Given the description of an element on the screen output the (x, y) to click on. 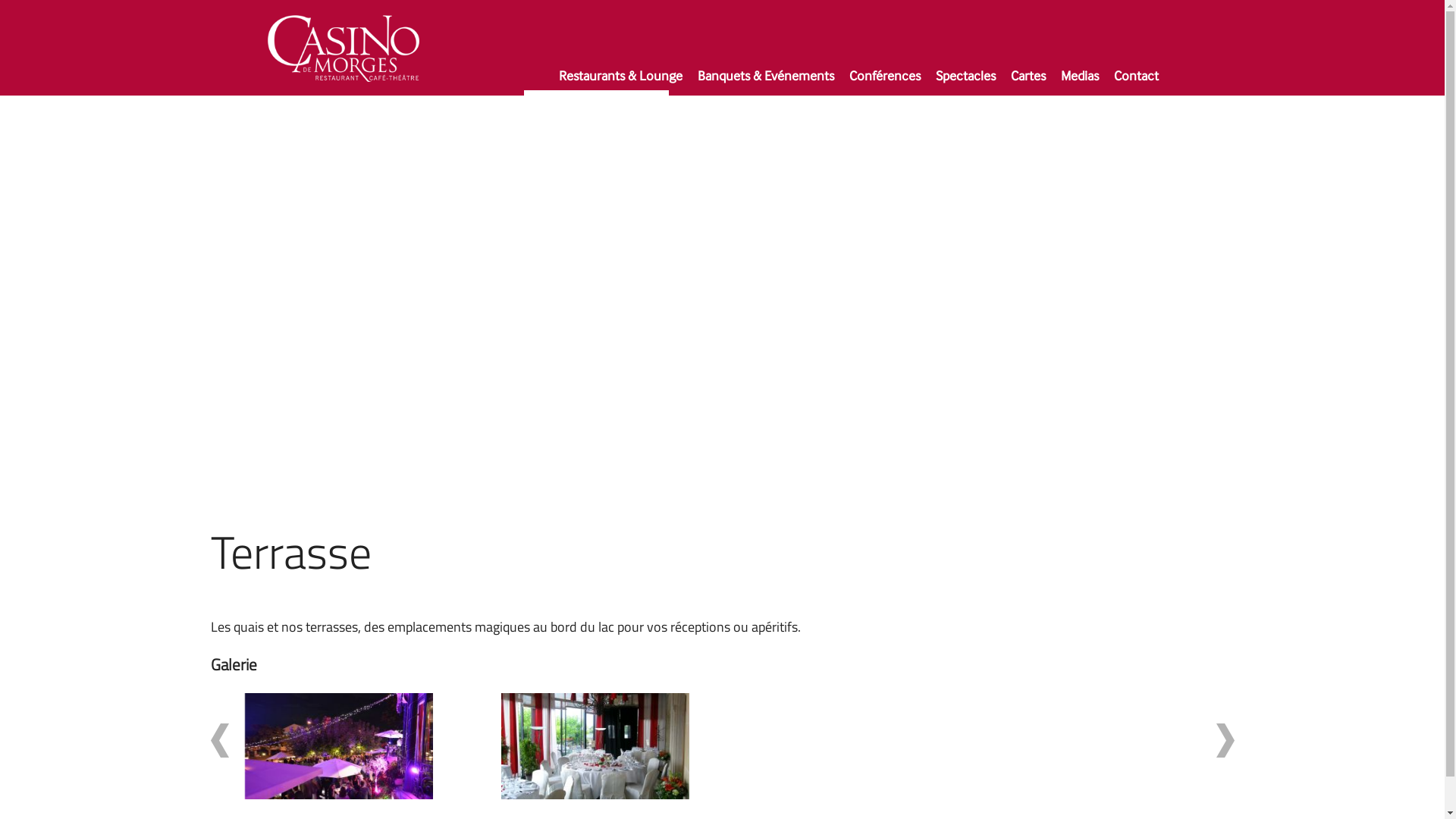
Contact Element type: text (1135, 81)
Restaurants & Lounge Element type: text (620, 81)
Spectacles Element type: text (965, 81)
Cartes Element type: text (1027, 81)
Medias Element type: text (1079, 81)
